Given the description of an element on the screen output the (x, y) to click on. 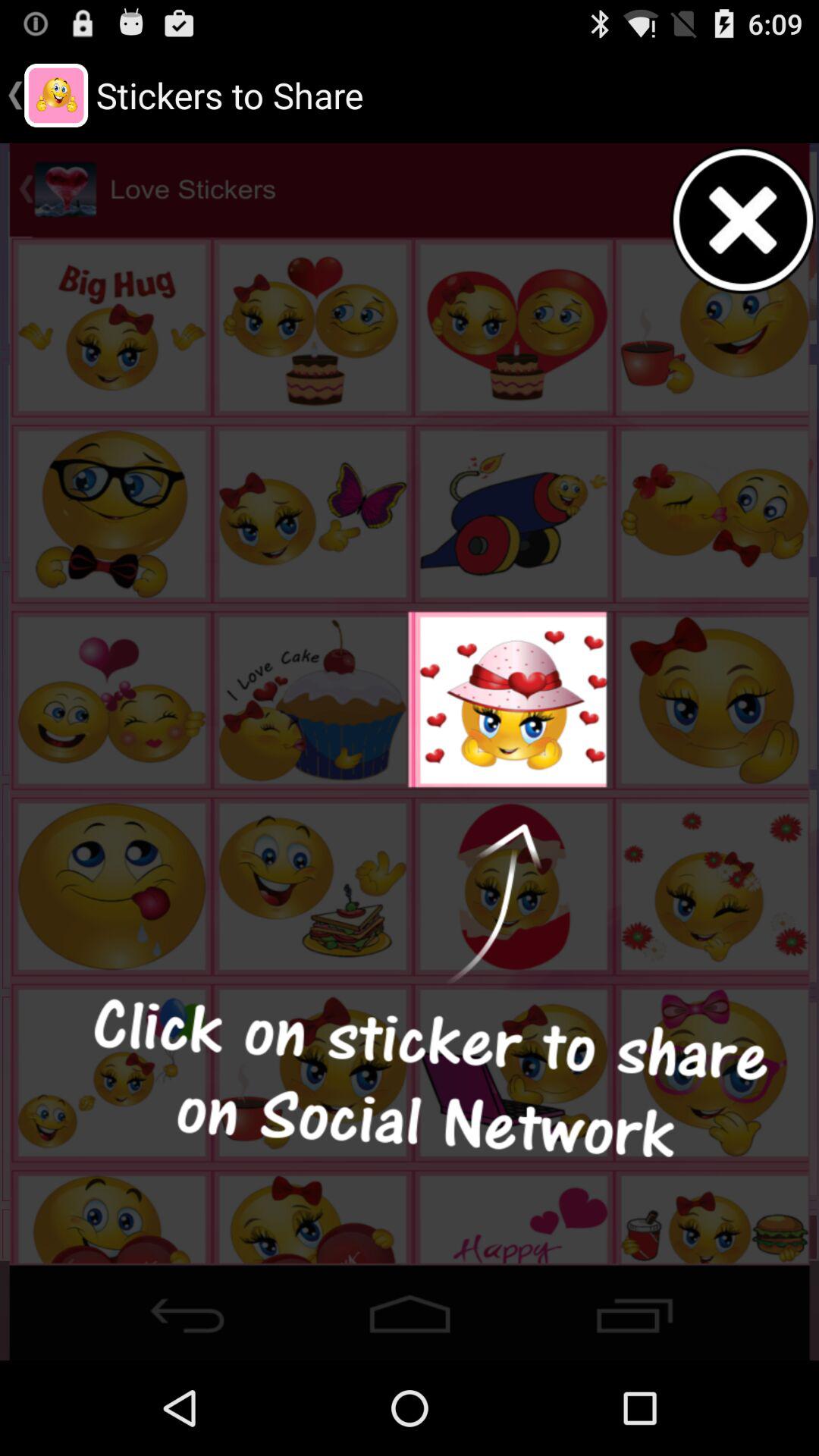
cancel button (744, 219)
